Given the description of an element on the screen output the (x, y) to click on. 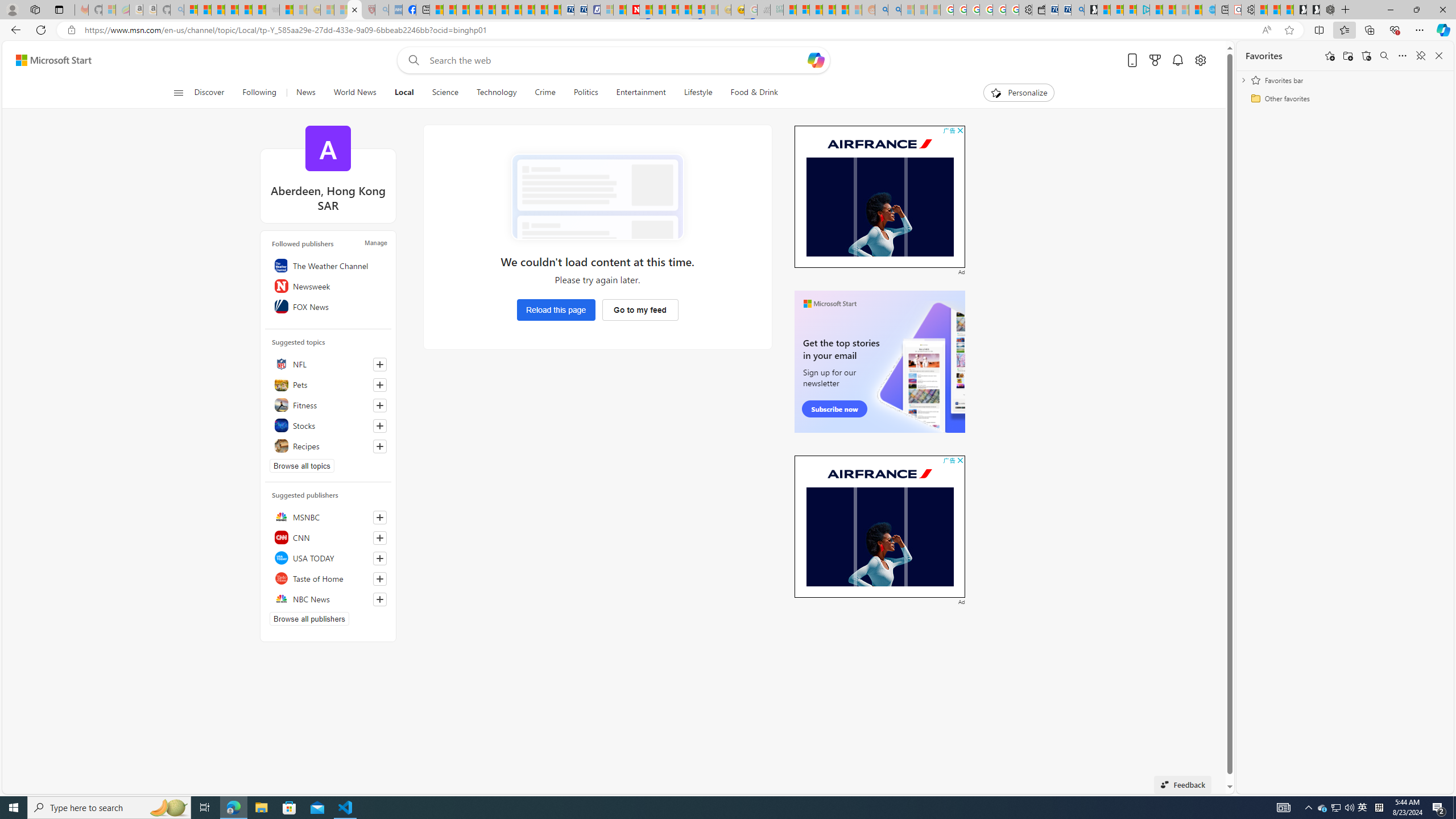
USA TODAY (327, 557)
